Given the description of an element on the screen output the (x, y) to click on. 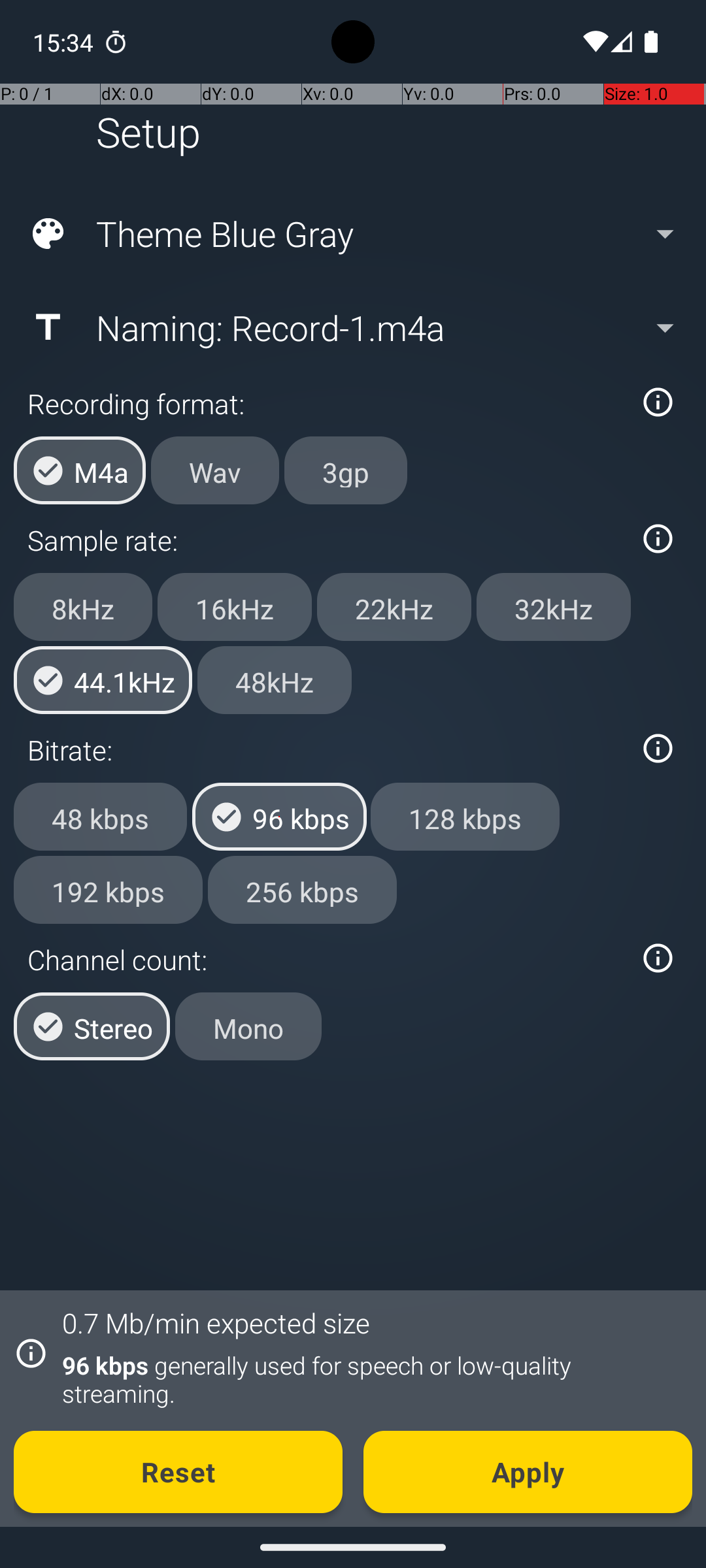
0.7 Mb/min expected size Element type: android.widget.TextView (215, 1322)
96 kbps generally used for speech or low-quality streaming. Element type: android.widget.TextView (370, 1378)
Wifi signal full. Element type: android.widget.FrameLayout (593, 41)
